Given the description of an element on the screen output the (x, y) to click on. 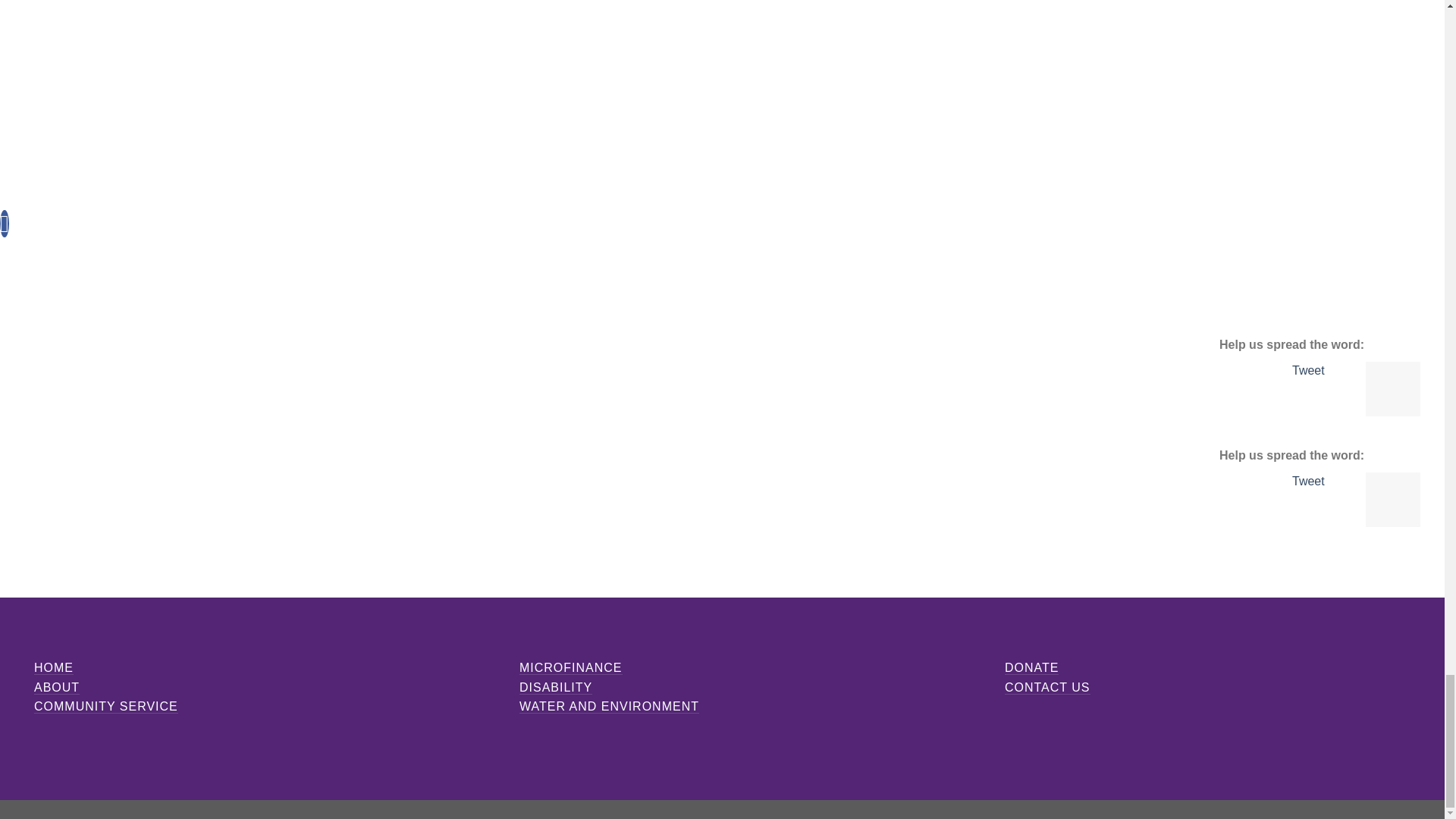
Tweet (1308, 481)
Tweet (1308, 369)
MICROFINANCE (571, 667)
DISABILITY (555, 687)
HOME (53, 667)
COMMUNITY SERVICE (105, 706)
DONATE (1031, 667)
WATER AND ENVIRONMENT (608, 706)
ABOUT (56, 687)
